Given the description of an element on the screen output the (x, y) to click on. 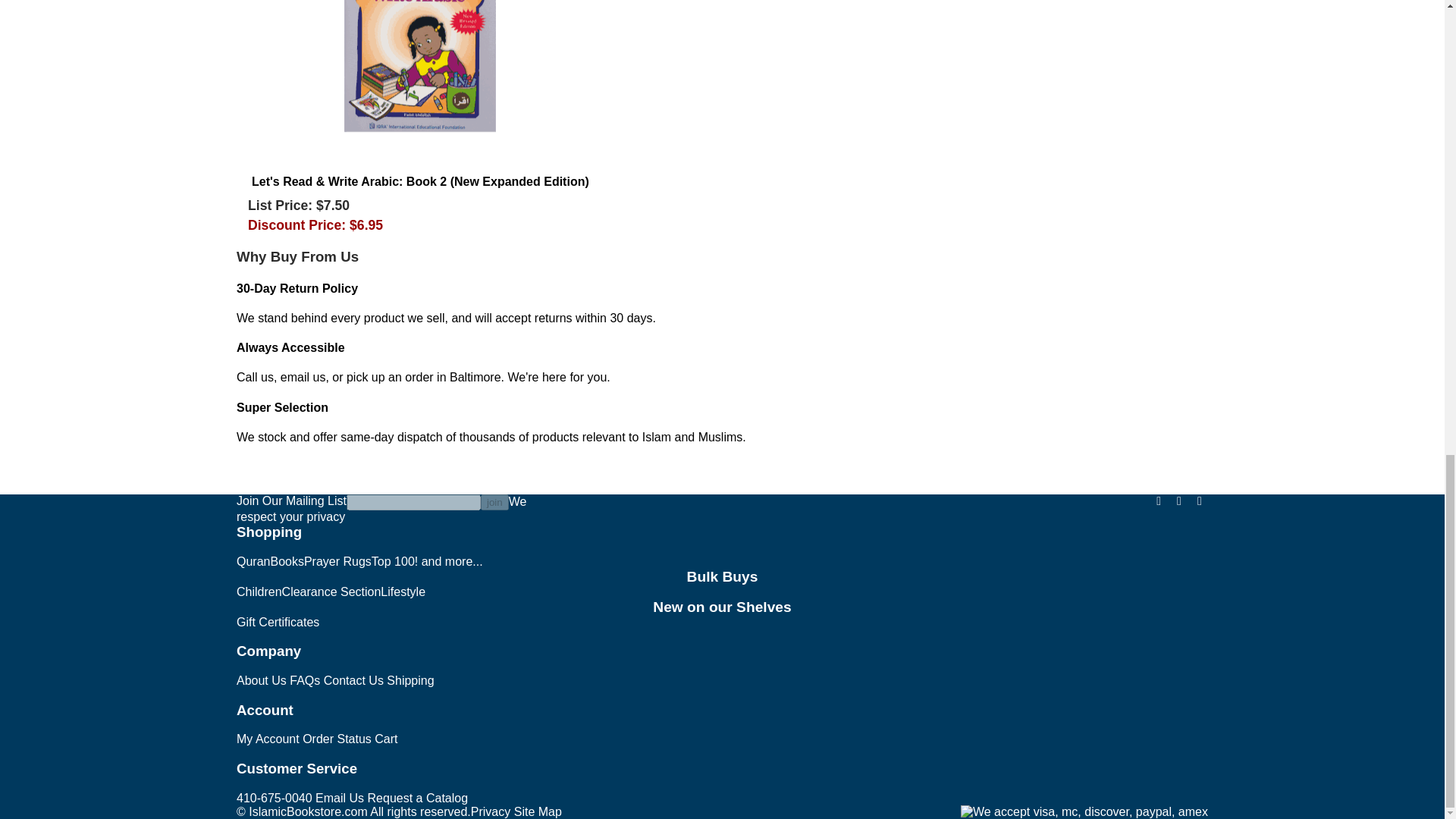
join (494, 502)
We respect your privacy (380, 509)
join (494, 502)
